Given the description of an element on the screen output the (x, y) to click on. 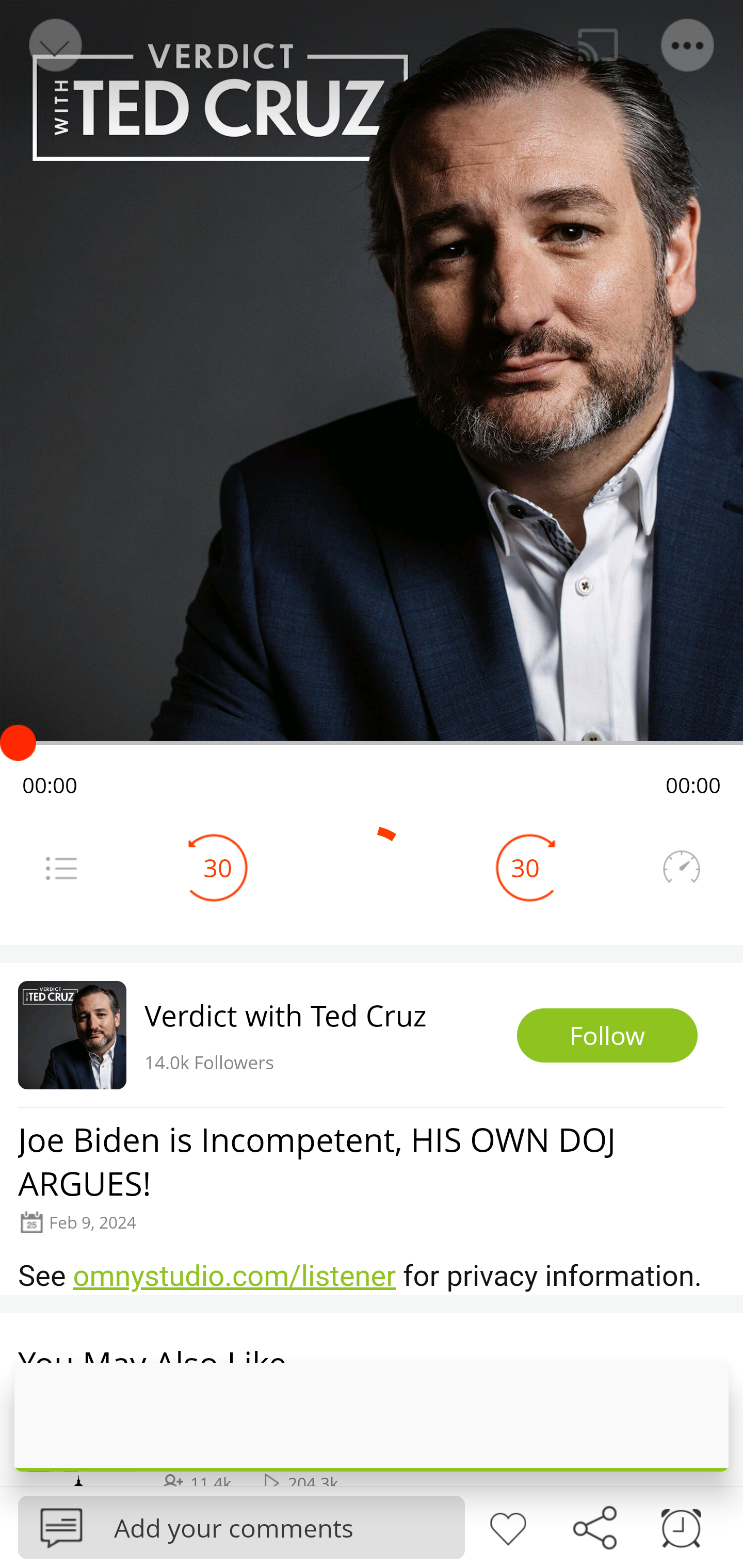
Back (53, 45)
Cast. Disconnected (597, 45)
Menu (688, 45)
30 Seek Backward (217, 867)
30 Seek Forward (525, 867)
Menu (60, 867)
Speedometer (681, 867)
Verdict with Ted Cruz 14.0k Followers Follow (371, 1034)
Follow (607, 1035)
omnystudio.com/listener (234, 1275)
Like (508, 1526)
Share (594, 1526)
Sleep timer (681, 1526)
Podbean Add your comments (241, 1526)
